Given the description of an element on the screen output the (x, y) to click on. 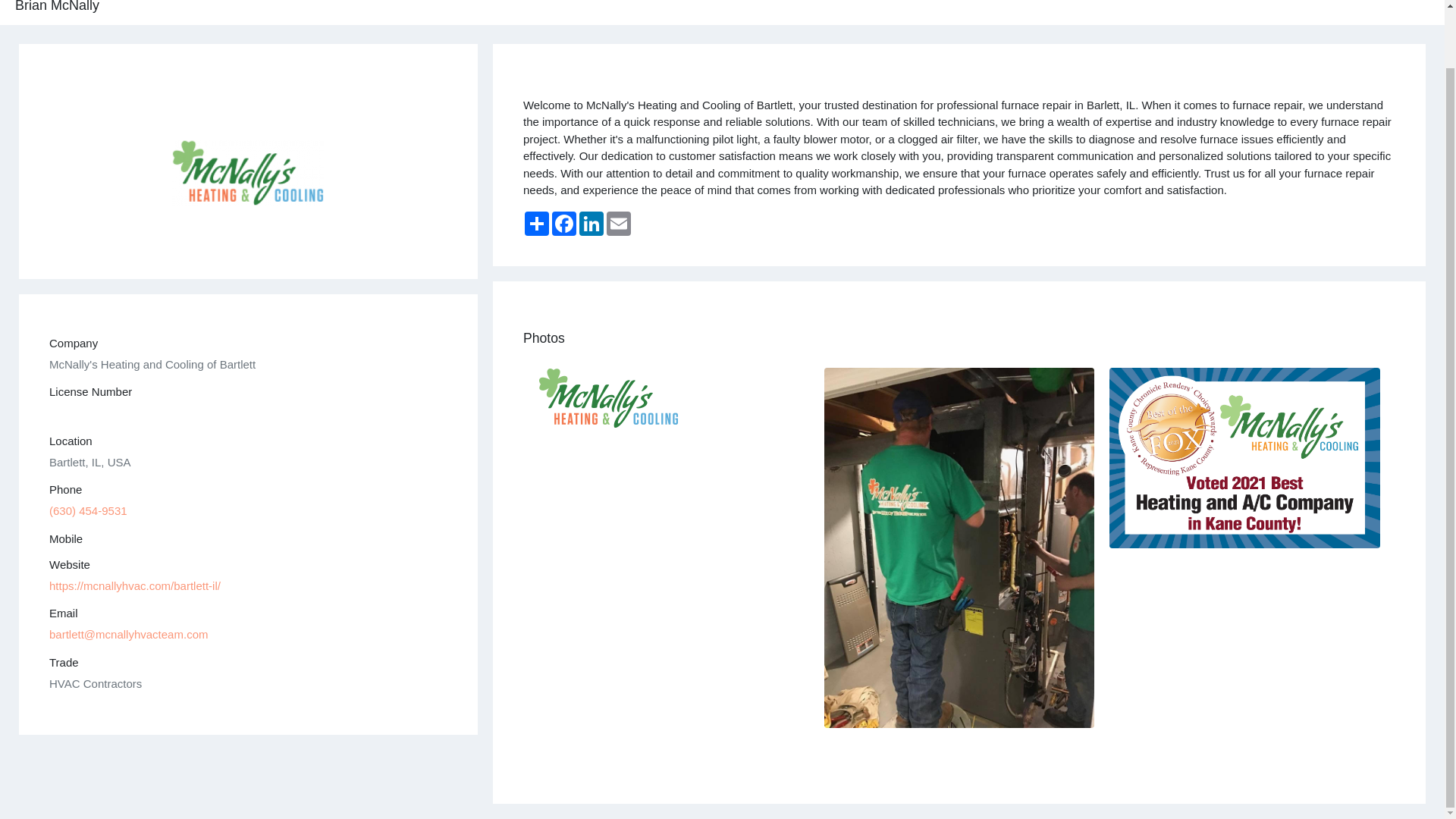
Facebook (564, 223)
Email (618, 223)
LinkedIn (591, 223)
